Given the description of an element on the screen output the (x, y) to click on. 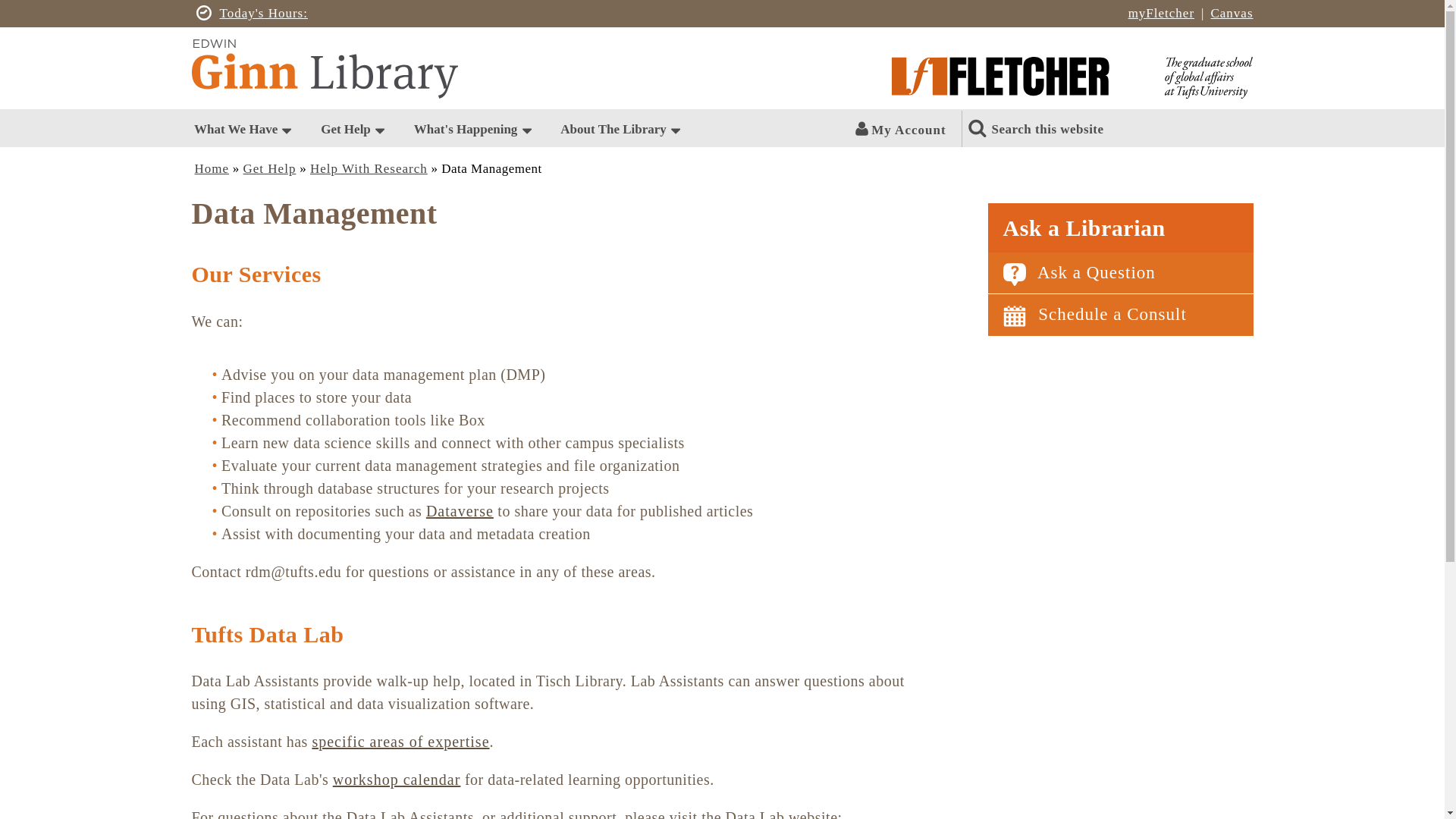
Today's Hours (263, 13)
myFletcher (1163, 12)
Get Help (345, 129)
Canvas (1230, 12)
What We Have (235, 129)
Search (1096, 120)
